Given the description of an element on the screen output the (x, y) to click on. 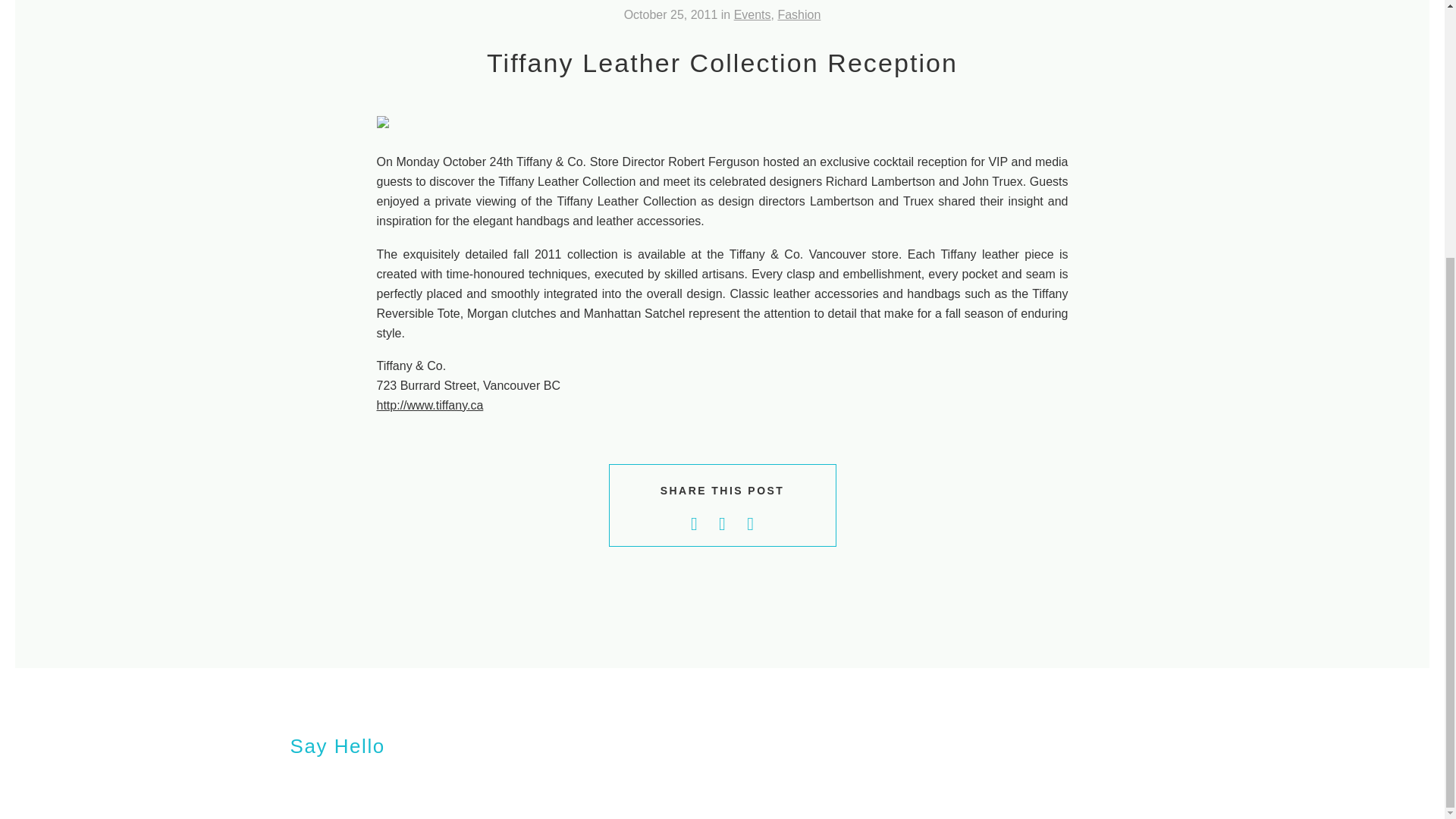
Events (752, 14)
Fashion (799, 14)
